Given the description of an element on the screen output the (x, y) to click on. 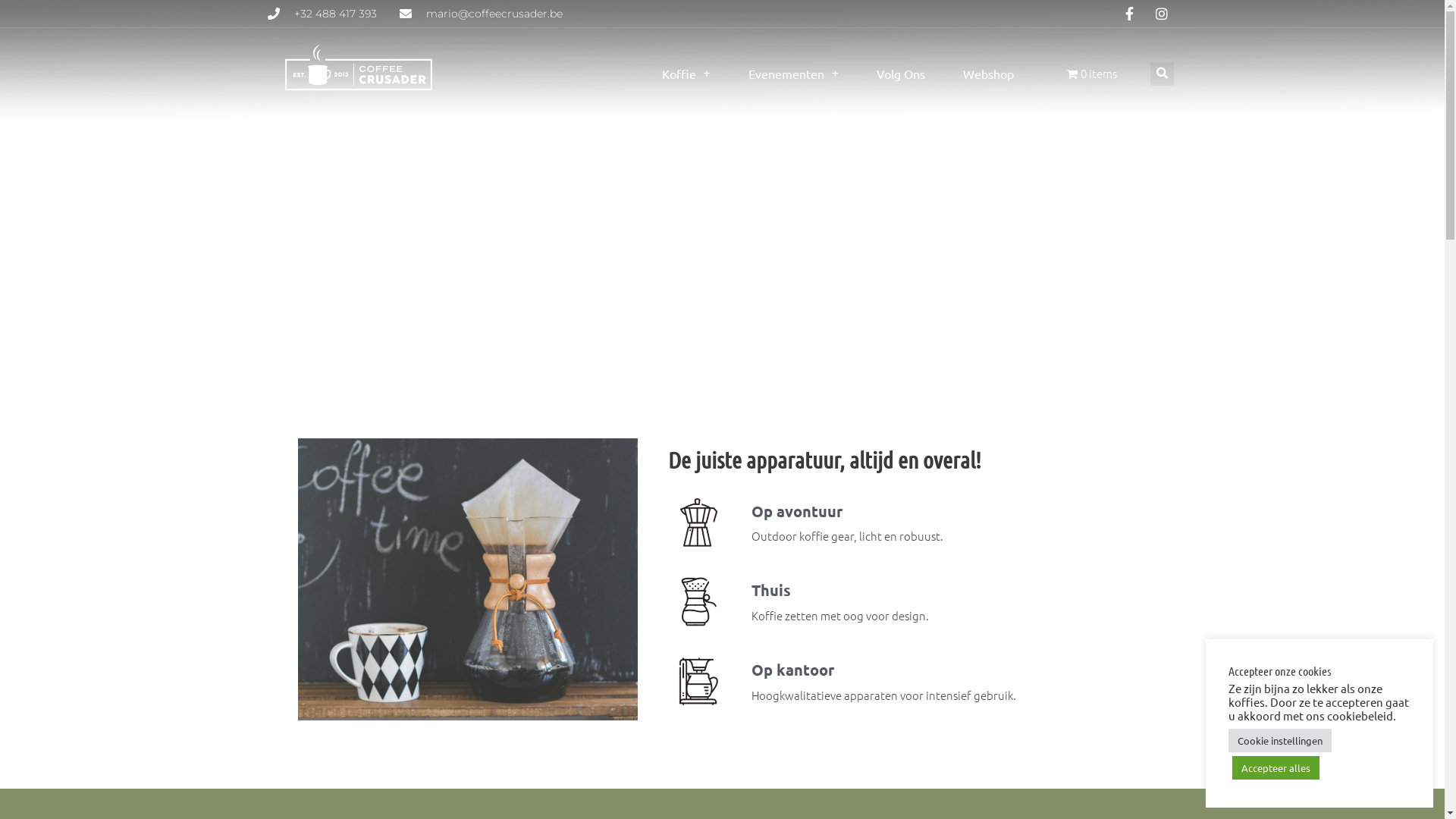
Koffie Element type: text (685, 73)
0 items Element type: text (1091, 73)
Accepteer alles Element type: text (1275, 767)
+32 488 417 393 Element type: text (321, 13)
Evenementen Element type: text (793, 73)
Webshop Element type: text (988, 73)
Op avontuur Element type: text (795, 511)
Volg Ons Element type: text (900, 73)
Thuis Element type: text (770, 590)
Op kantoor Element type: text (791, 669)
Cookie instellingen Element type: text (1279, 740)
mario@coffeecrusader.be Element type: text (479, 13)
